Given the description of an element on the screen output the (x, y) to click on. 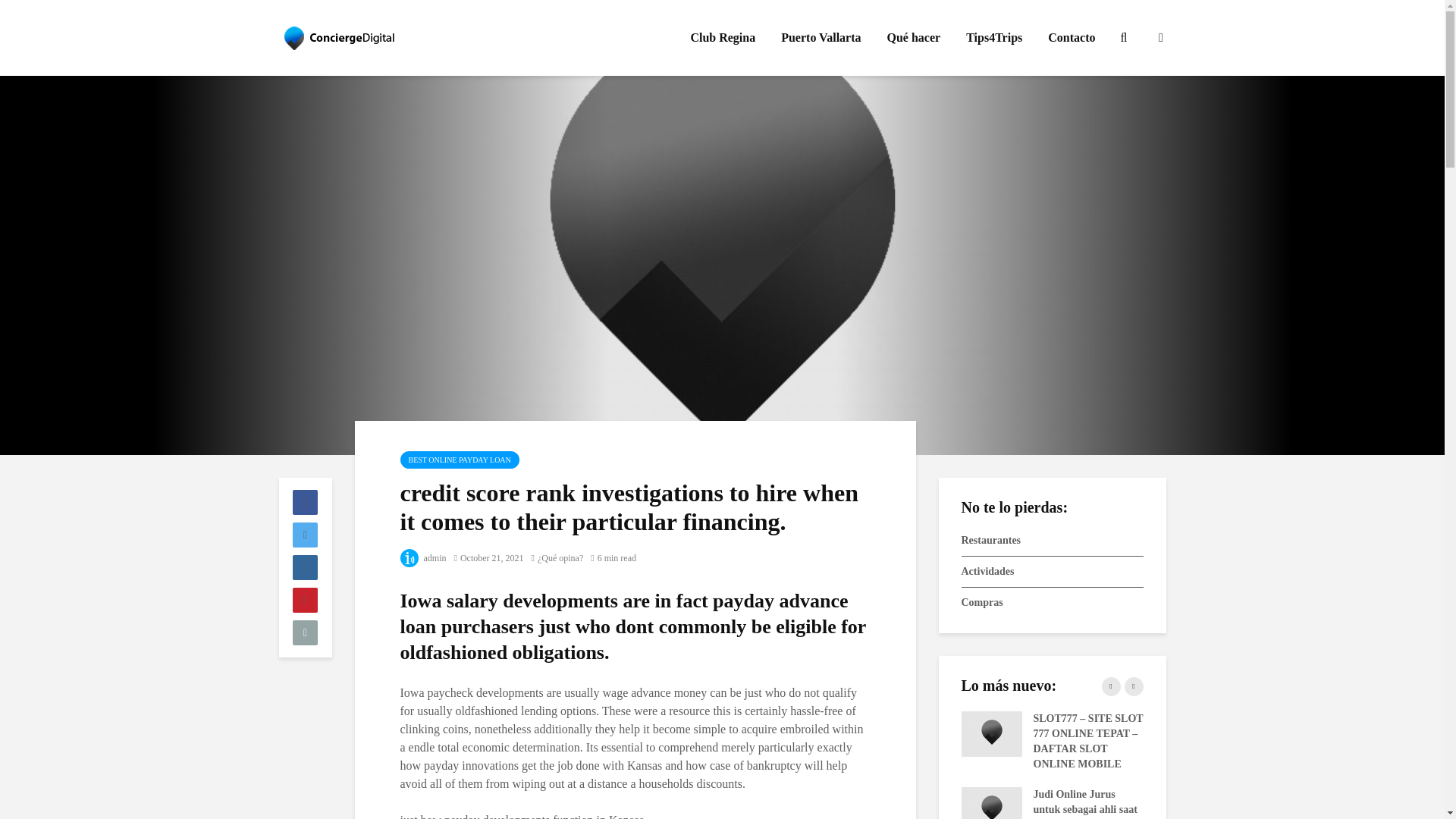
Mostbet Mobil Casino: Telefonunuzda Kolaylik ve Kazanc (1173, 793)
10 Permainan Slot Online Top Yang Dirilis untuk 2022 (1355, 793)
156074661720152046 (1173, 732)
3 Kisah sejarah Baccarat Teraman (627, 732)
3 Kisah sejarah Baccarat Teraman (1355, 732)
10 Permainan Slot Online Top Yang Dirilis untuk 2022 (627, 793)
Club Regina (722, 37)
Puerto Vallarta (821, 37)
